Given the description of an element on the screen output the (x, y) to click on. 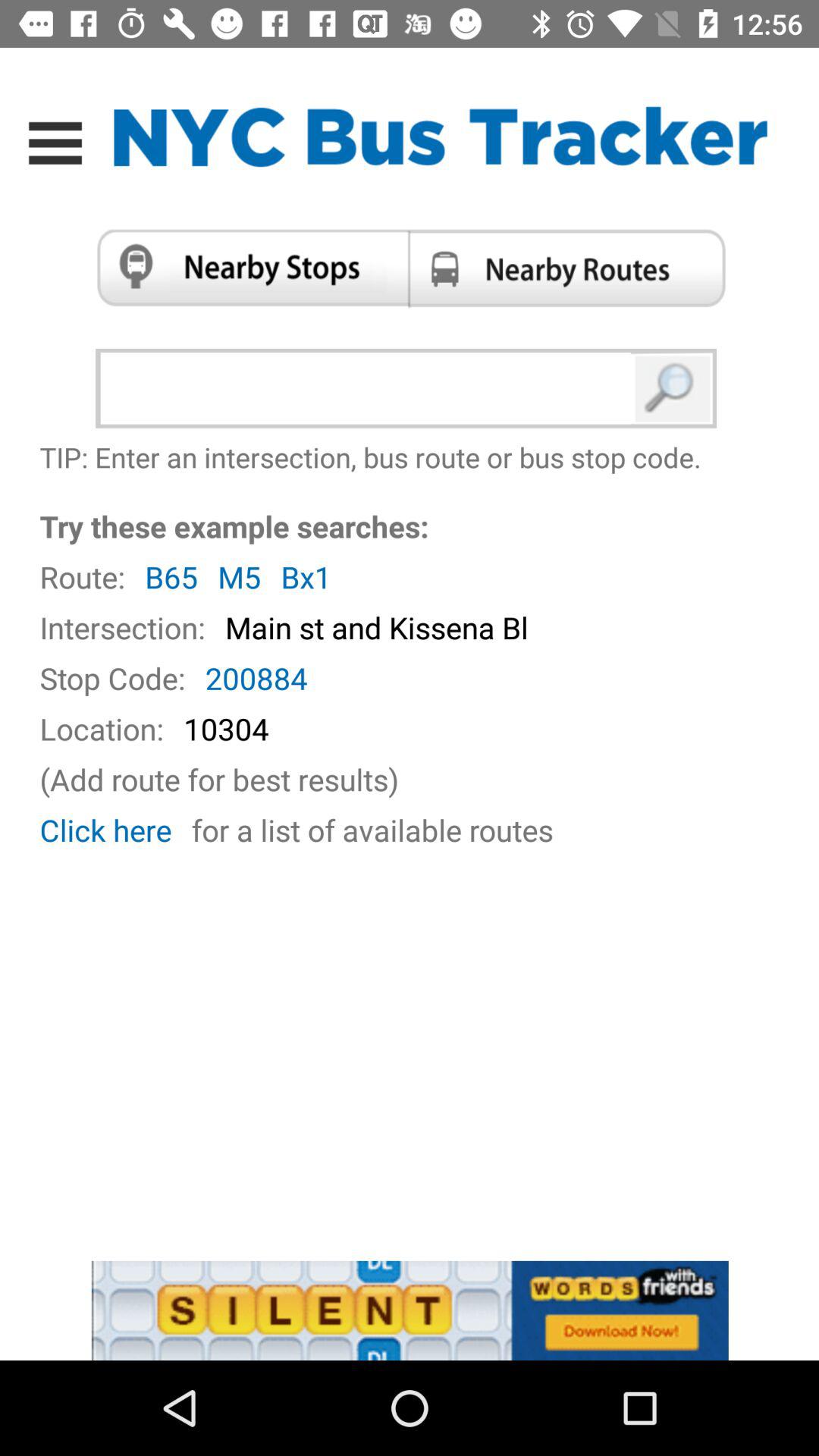
select nearby routes (571, 267)
